Given the description of an element on the screen output the (x, y) to click on. 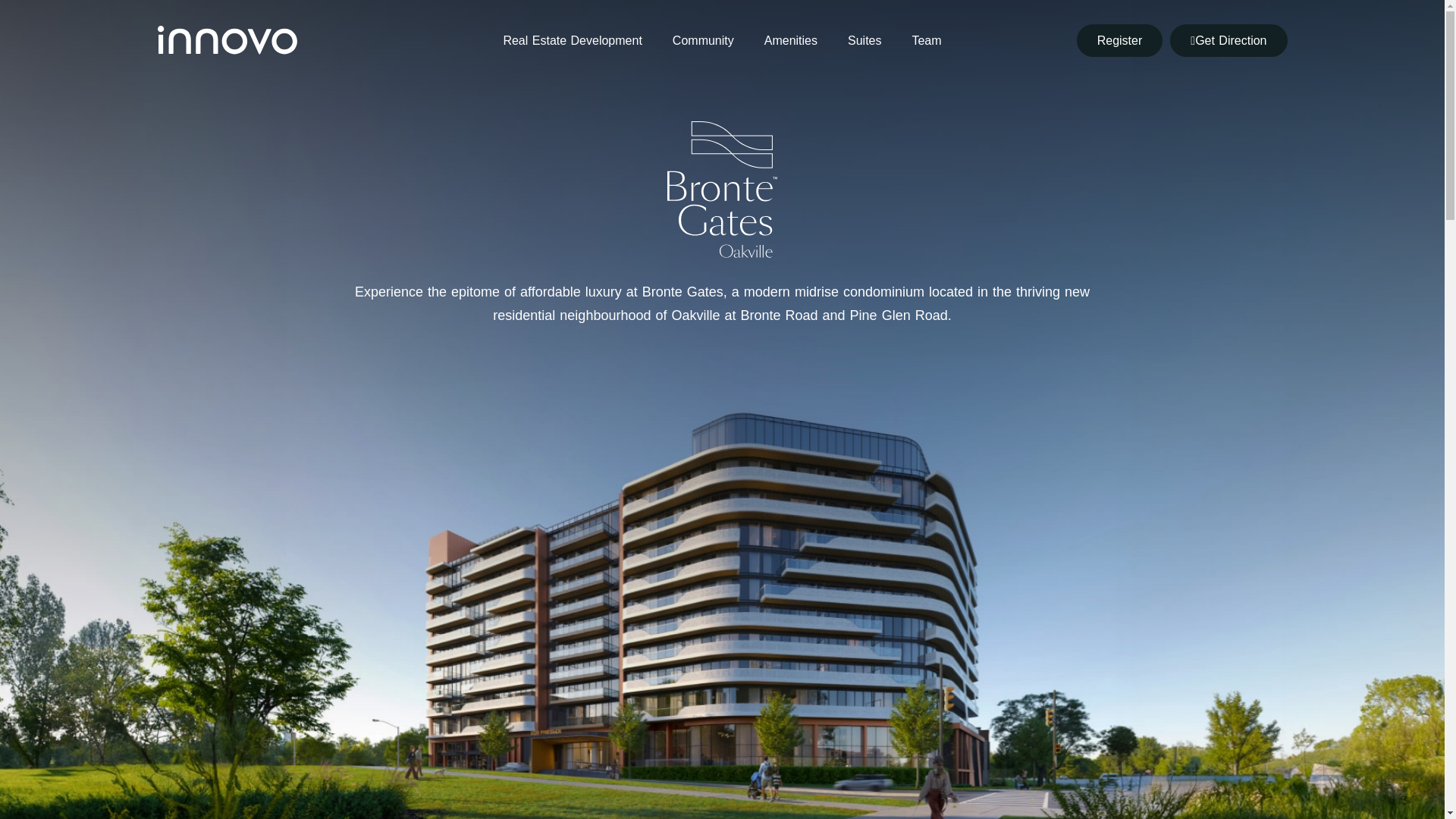
Suites (864, 40)
Team (926, 40)
Community (703, 40)
Team (926, 40)
Register (1120, 40)
Amenities (790, 40)
Suites (864, 40)
Register (1120, 40)
Get Direction (1228, 40)
Amenities (790, 40)
Real Estate Development (571, 40)
Community (703, 40)
